Given the description of an element on the screen output the (x, y) to click on. 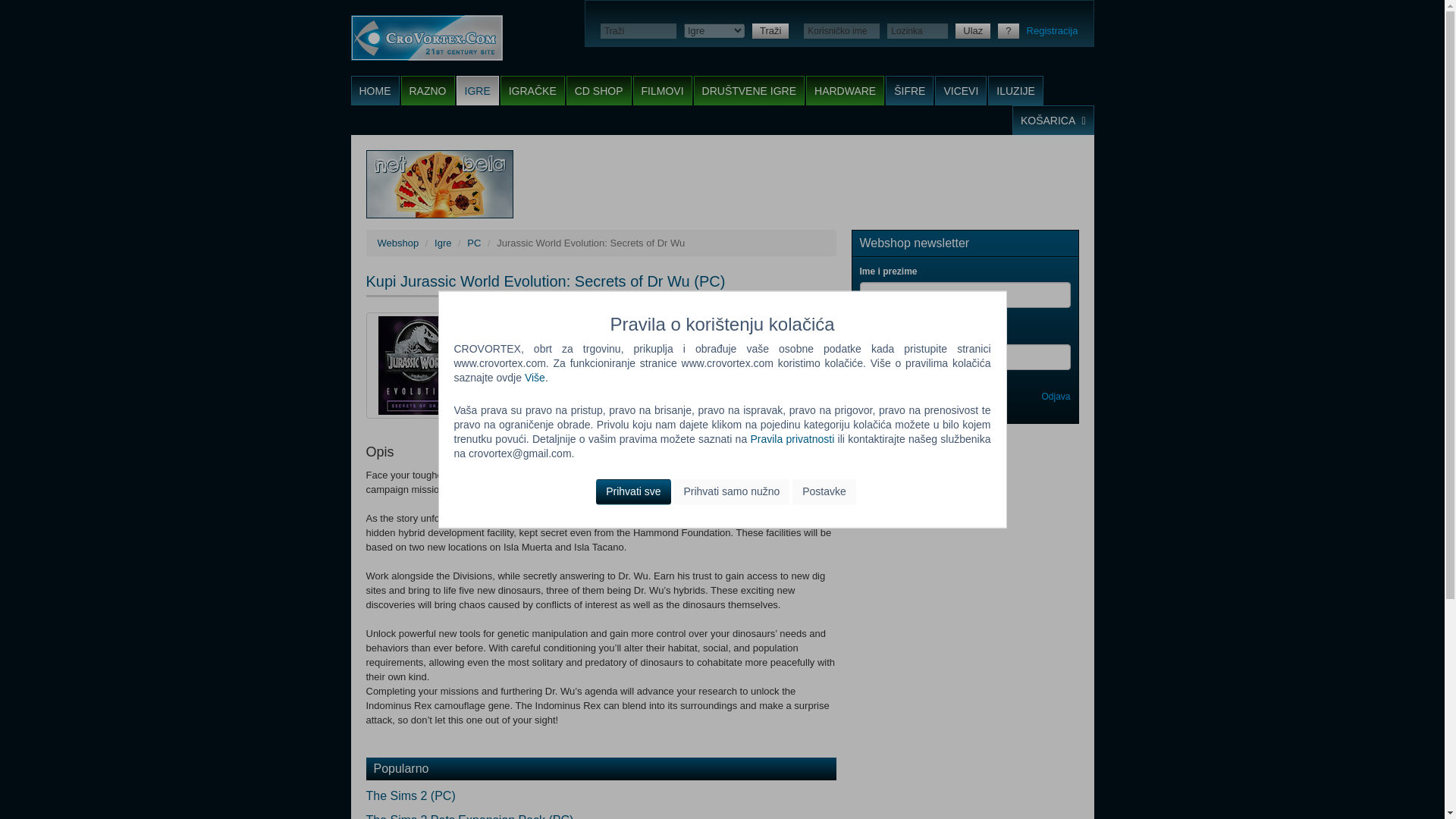
IGRE (478, 90)
? (1007, 30)
HOME (374, 90)
Registracija (1052, 30)
CroVortex (426, 37)
RAZNO (427, 90)
Ulaz (972, 30)
